Given the description of an element on the screen output the (x, y) to click on. 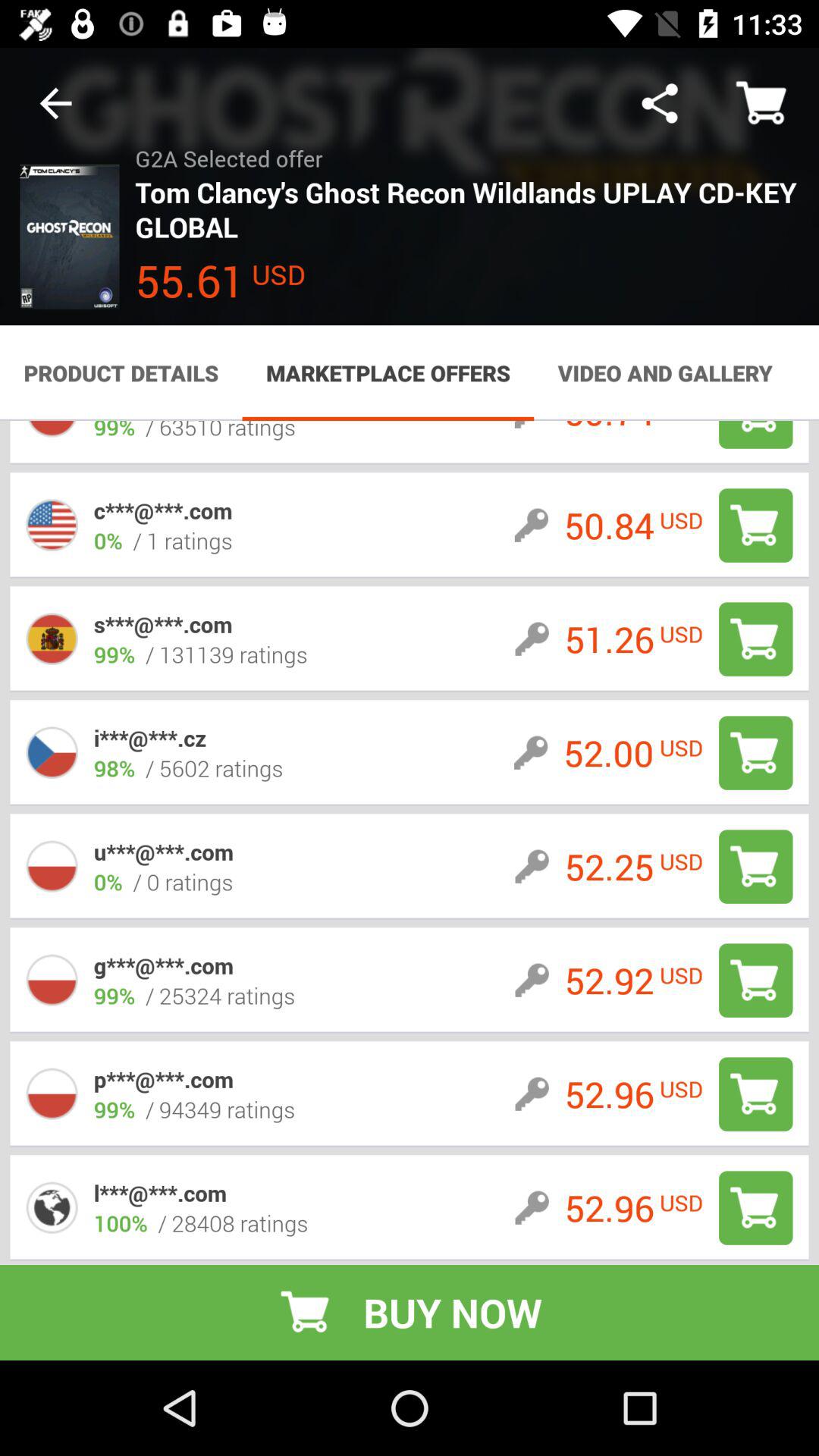
toggle buy option (755, 980)
